Given the description of an element on the screen output the (x, y) to click on. 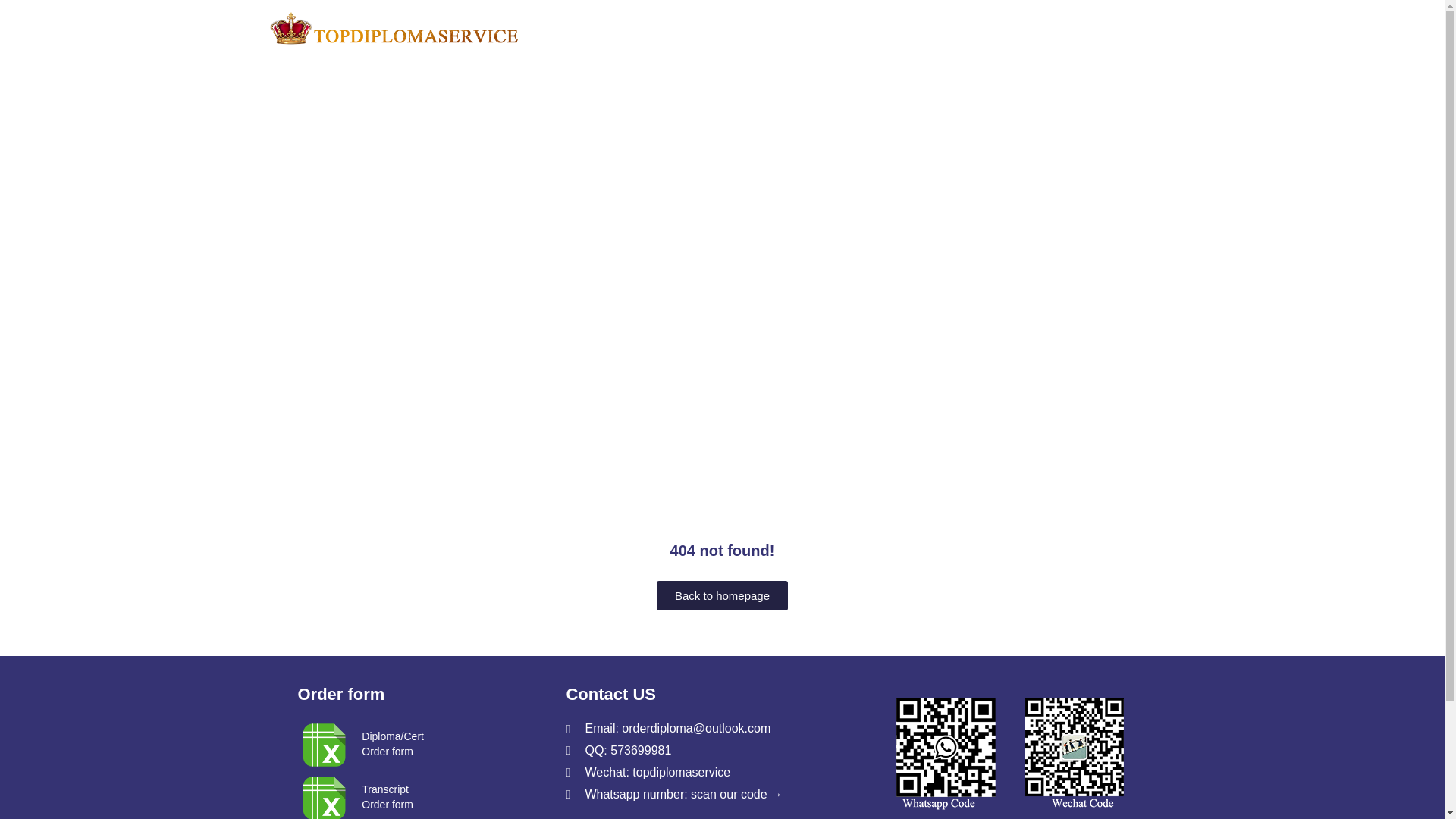
ORDER (919, 28)
Back to homepage (721, 595)
BLOG (1031, 28)
PRODUCTS (831, 28)
REVIEWS (742, 28)
CONTACT US (387, 796)
HOME (1114, 28)
